Given the description of an element on the screen output the (x, y) to click on. 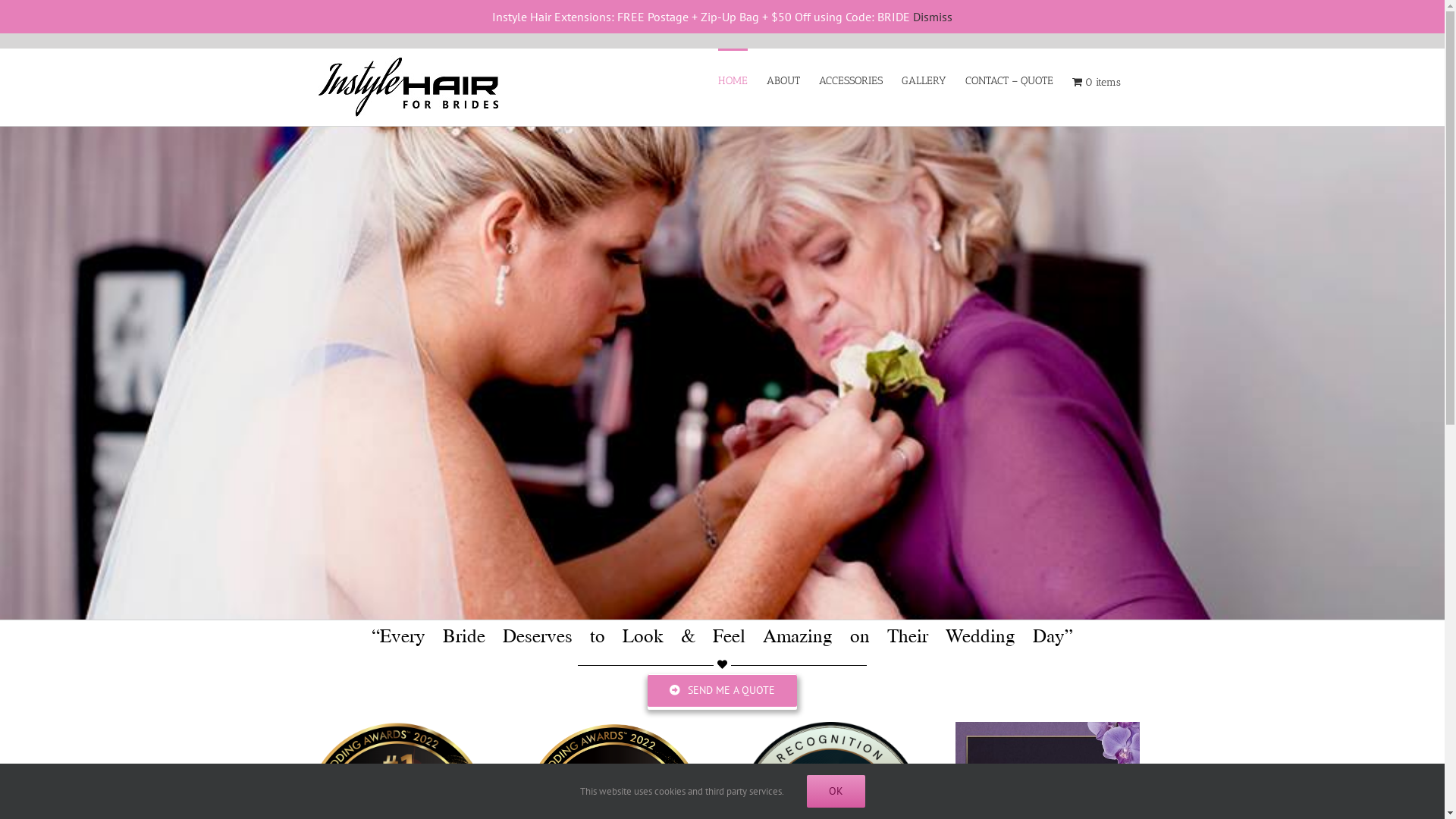
HOME Element type: text (732, 80)
SEND ME A QUOTE Element type: text (722, 690)
OK Element type: text (835, 791)
ACCESSORIES Element type: text (850, 80)
Dismiss Element type: text (932, 16)
GALLERY Element type: text (923, 80)
ABOUT Element type: text (783, 80)
0 items Element type: text (1096, 81)
